Given the description of an element on the screen output the (x, y) to click on. 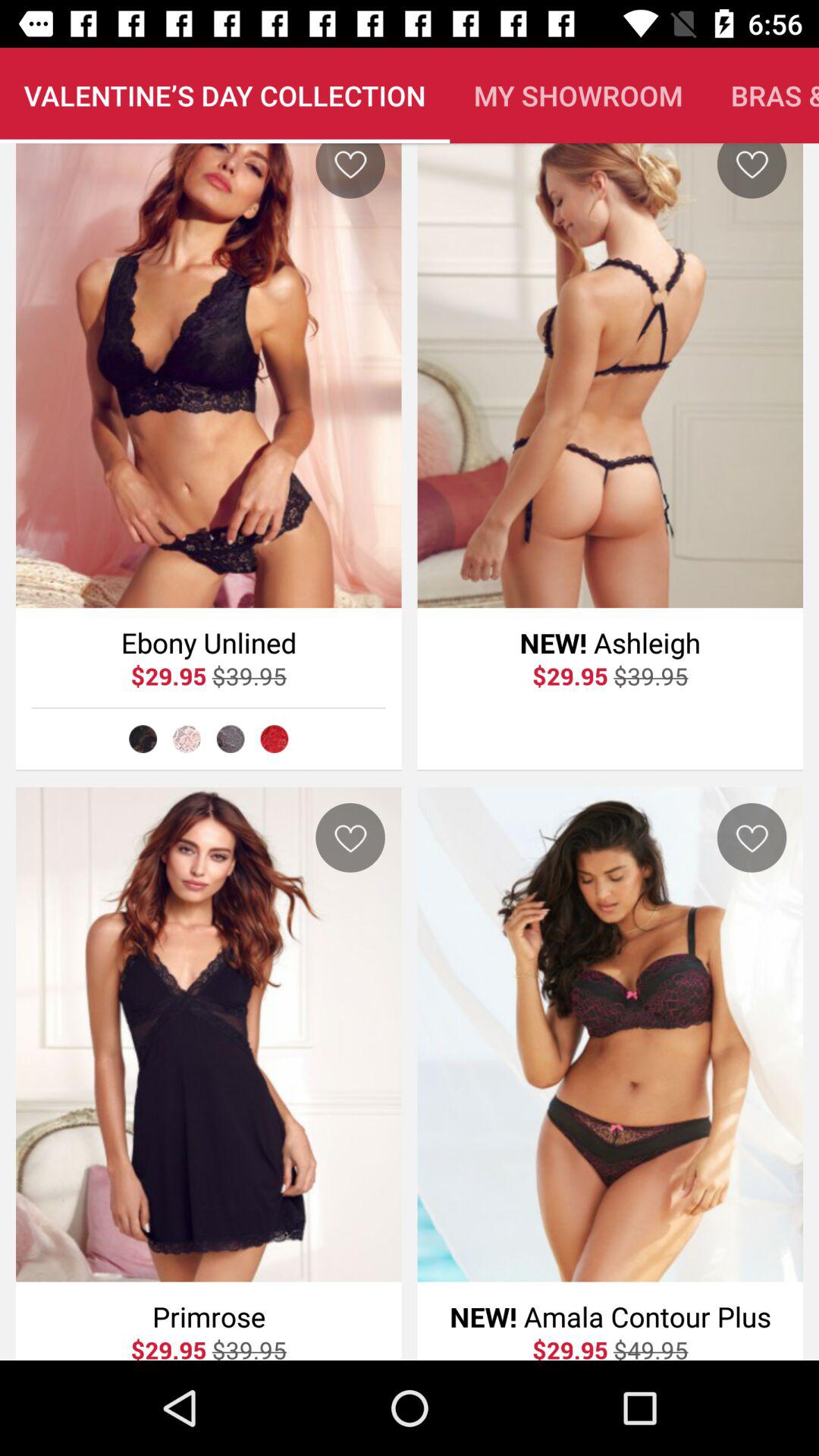
turn off the item below 29 95 39 item (274, 738)
